Given the description of an element on the screen output the (x, y) to click on. 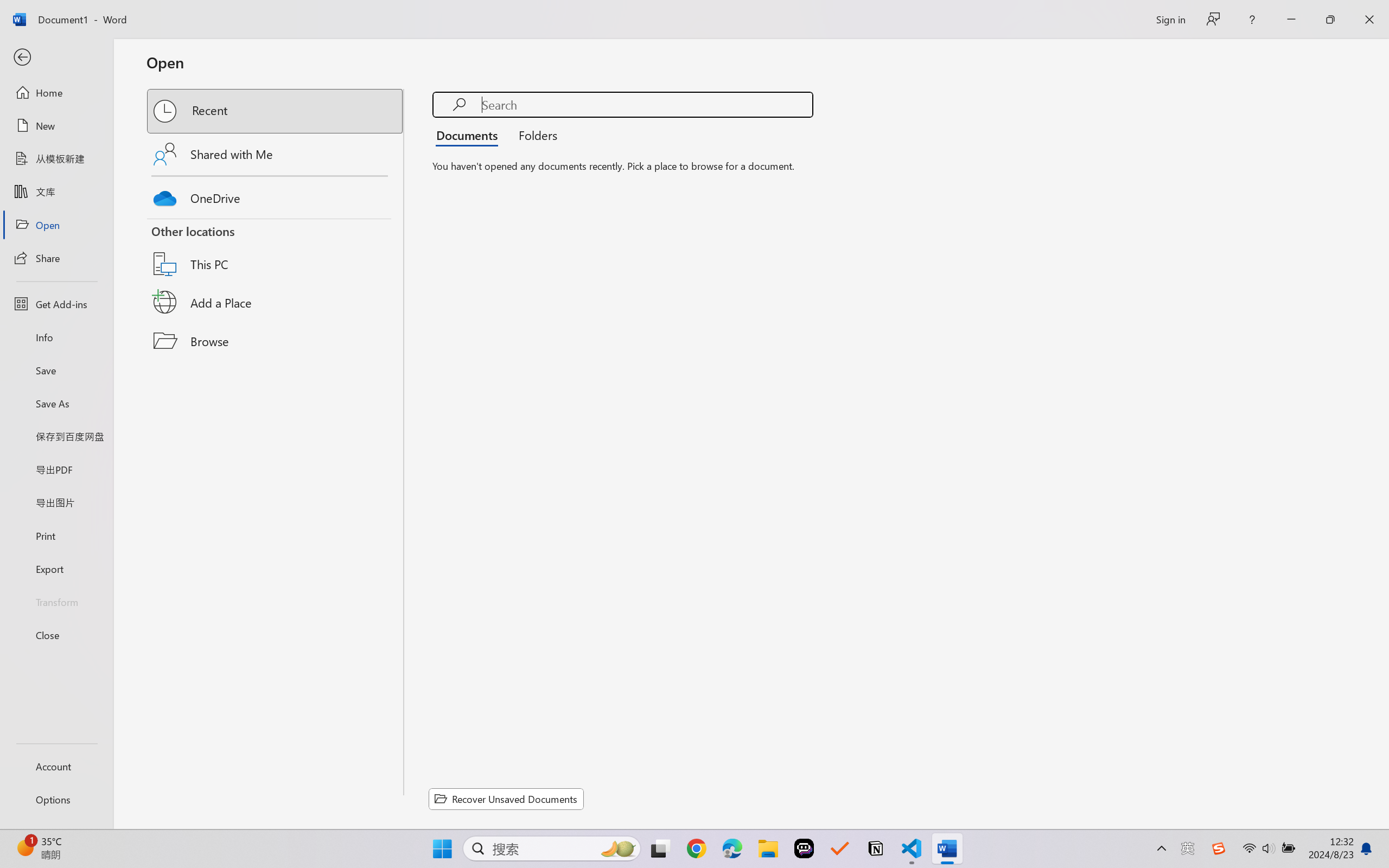
Get Add-ins (56, 303)
Account (56, 765)
Documents (469, 134)
Print (56, 535)
Folders (534, 134)
Back (56, 57)
